Given the description of an element on the screen output the (x, y) to click on. 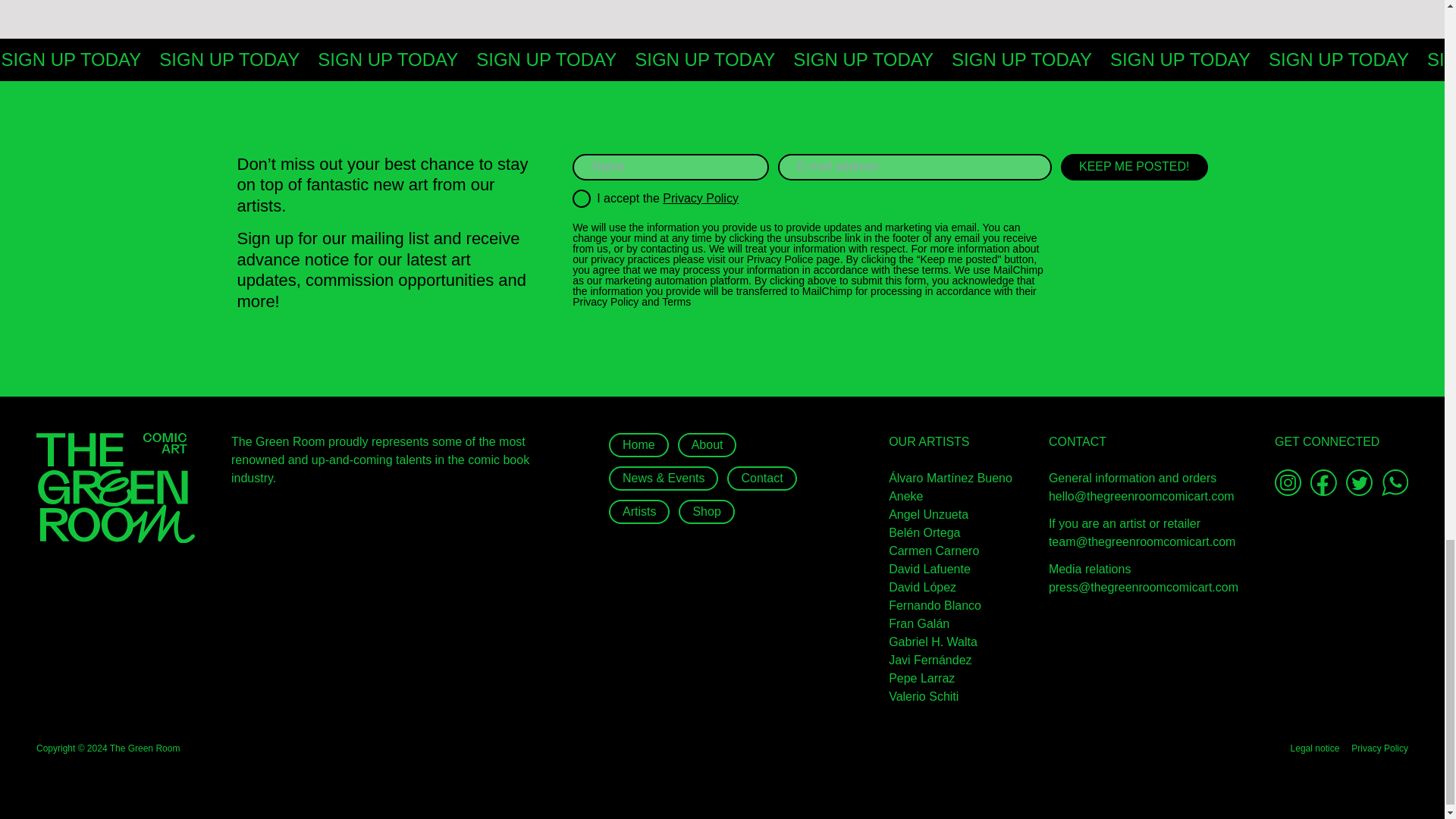
1 (581, 198)
Keep me posted! (1134, 166)
